Given the description of an element on the screen output the (x, y) to click on. 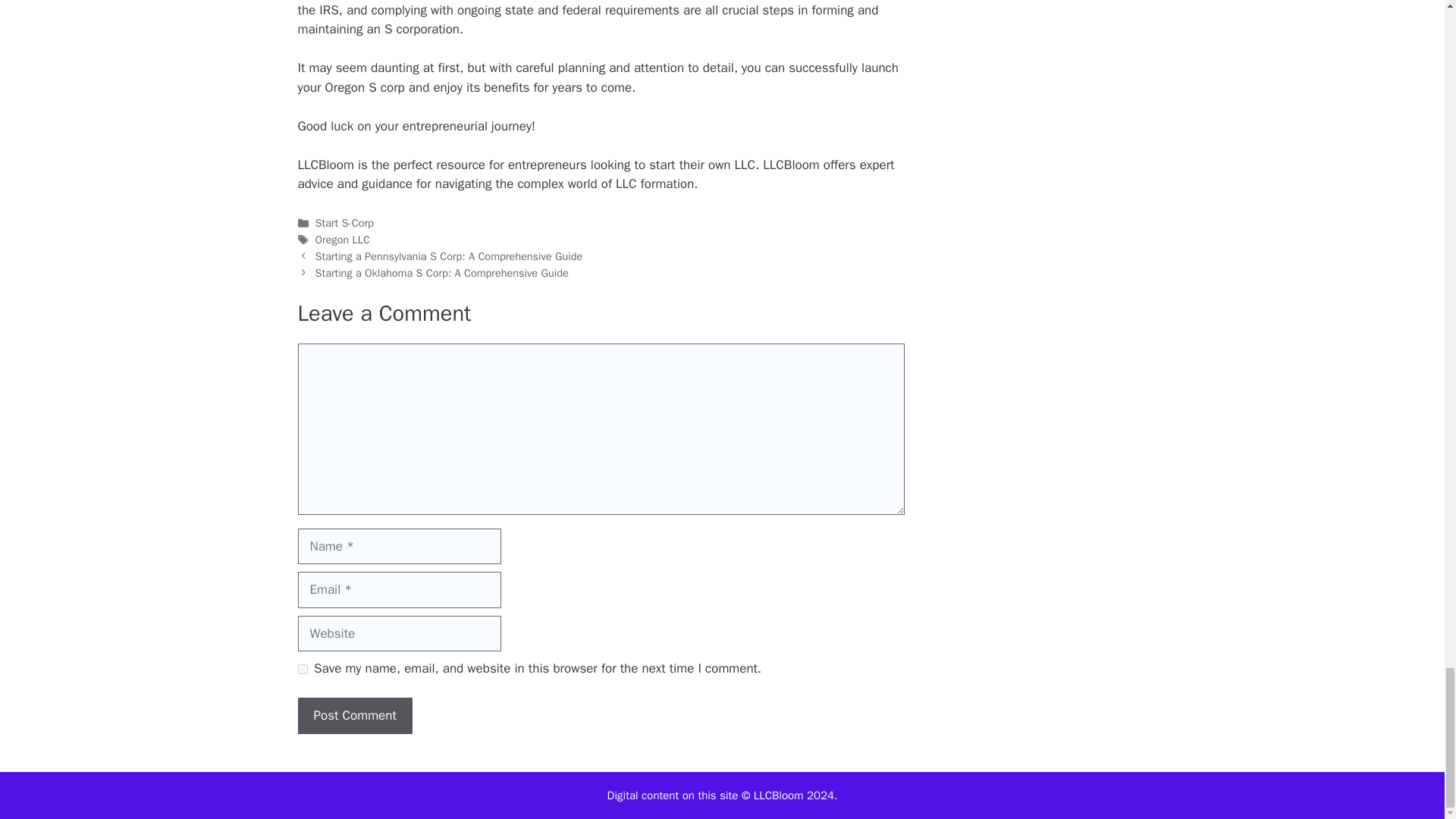
LLCBloom (325, 164)
Oregon LLC (342, 239)
Post Comment (354, 715)
LLCBloom (325, 164)
yes (302, 669)
Start S-Corp (344, 223)
